Given the description of an element on the screen output the (x, y) to click on. 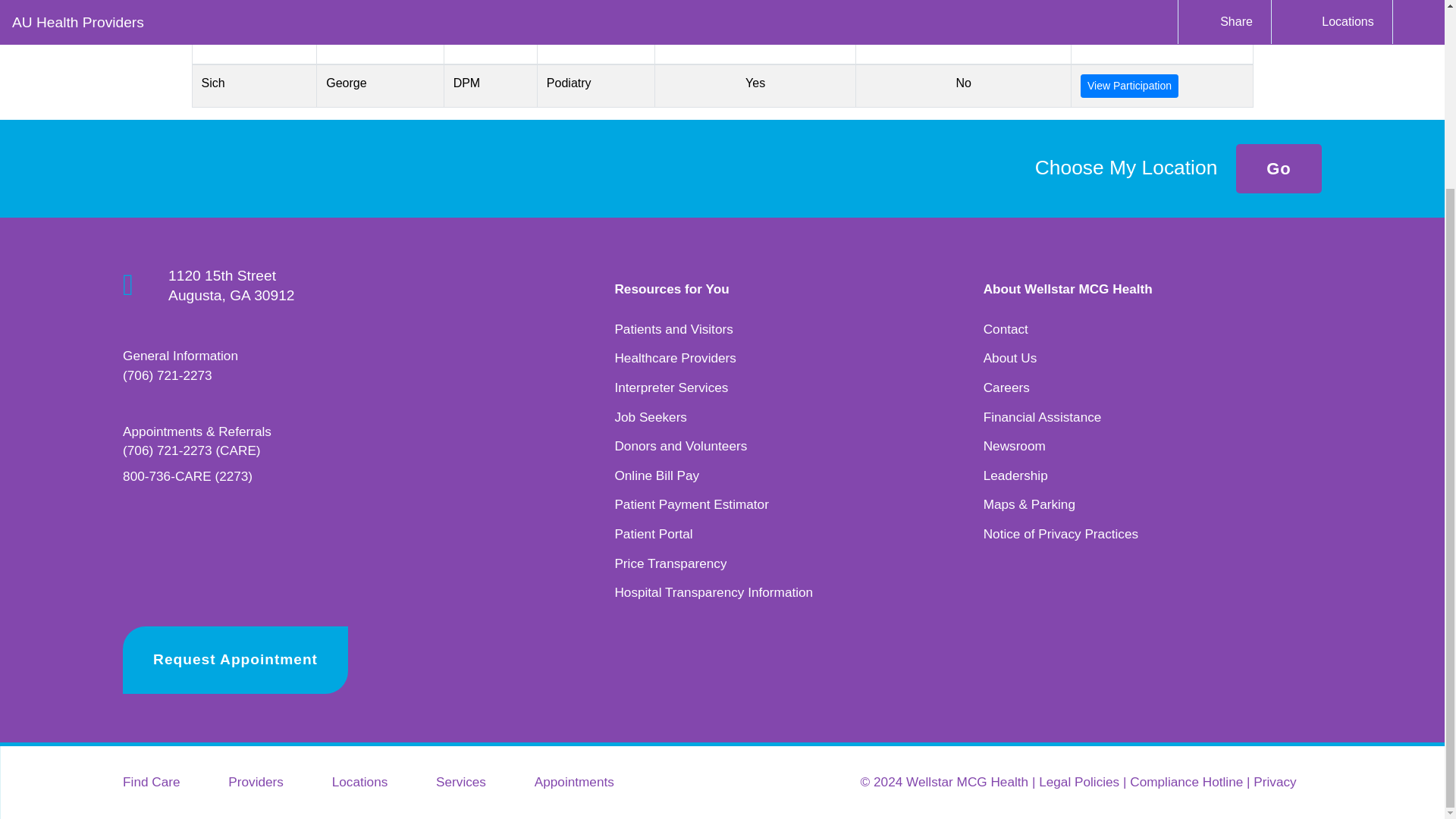
MCGH01VMW01 (889, 781)
